Given the description of an element on the screen output the (x, y) to click on. 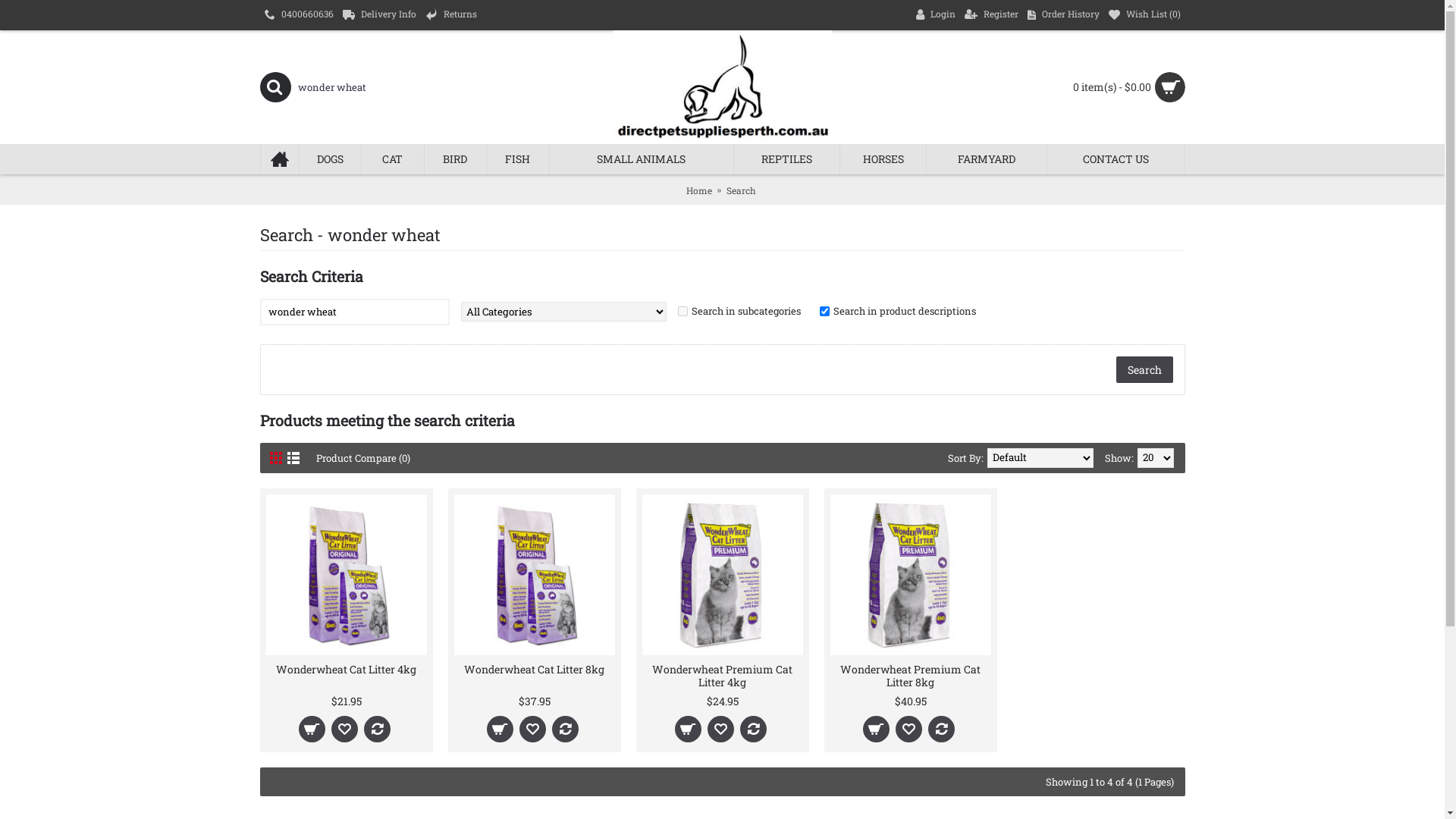
CAT Element type: text (392, 159)
Wonderwheat Premium Cat Litter 4kg Element type: text (721, 674)
Wonderwheat Cat Litter 4kg Element type: hover (345, 574)
Search Element type: text (741, 189)
Returns Element type: text (450, 15)
REPTILES Element type: text (786, 159)
FISH Element type: text (517, 159)
HORSES Element type: text (882, 159)
Wonderwheat Cat Litter 4kg Element type: text (345, 667)
CONTACT US Element type: text (1115, 159)
Wonderwheat Premium Cat Litter 4kg Element type: hover (721, 574)
Wish List (0) Element type: text (1144, 15)
Wonderwheat Premium Cat Litter 8kg Element type: hover (909, 574)
Login Element type: text (935, 15)
Register Element type: text (991, 15)
Wonderwheat Cat Litter 8kg Element type: hover (533, 574)
Order History Element type: text (1062, 15)
SMALL ANIMALS Element type: text (641, 159)
FARMYARD Element type: text (986, 159)
Home Element type: text (698, 189)
Wonderwheat Cat Litter 8kg Element type: text (533, 667)
Direct Pet Supplies Perth Element type: hover (721, 87)
BIRD Element type: text (455, 159)
0400660636 Element type: text (298, 15)
Product Compare (0) Element type: text (362, 457)
0 item(s) - $0.00 Element type: text (1069, 87)
Delivery Info Element type: text (379, 15)
Wonderwheat Premium Cat Litter 8kg Element type: text (909, 674)
DOGS Element type: text (329, 159)
